Given the description of an element on the screen output the (x, y) to click on. 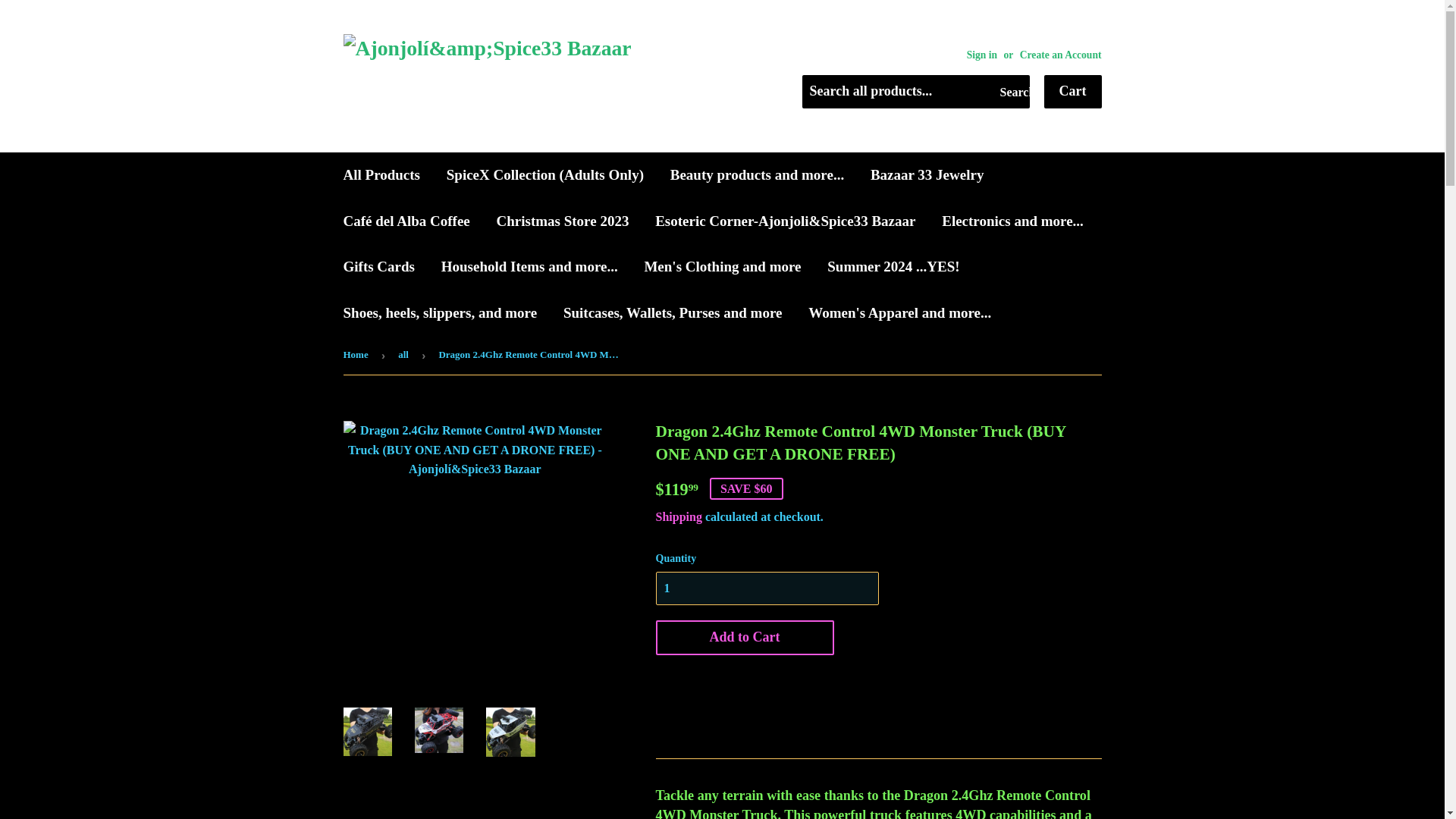
Sign in (981, 54)
1 (766, 588)
Create an Account (1061, 54)
Search (1012, 92)
All Products (381, 175)
Cart (1072, 91)
